Given the description of an element on the screen output the (x, y) to click on. 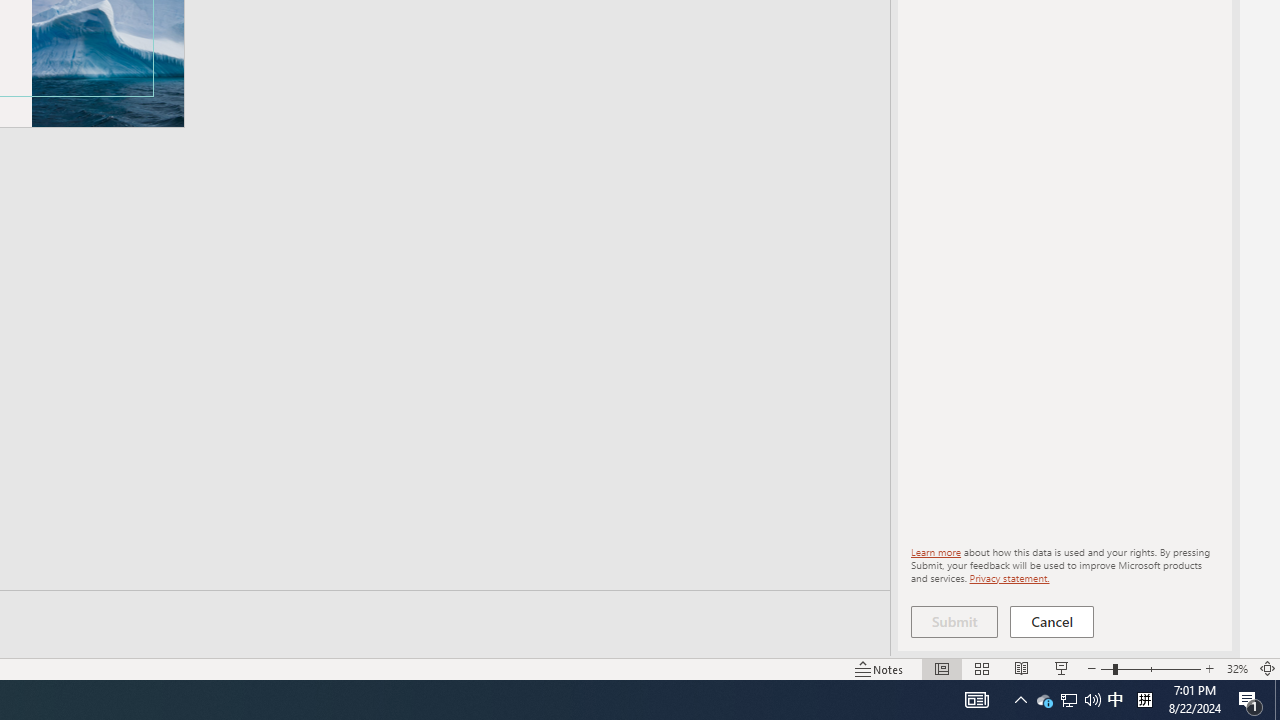
Learn more (936, 551)
Privacy statement. (1008, 577)
Notes  (879, 668)
Zoom 32% (1236, 668)
Zoom to Fit  (1267, 668)
Cancel (1051, 621)
Submit (954, 621)
